Given the description of an element on the screen output the (x, y) to click on. 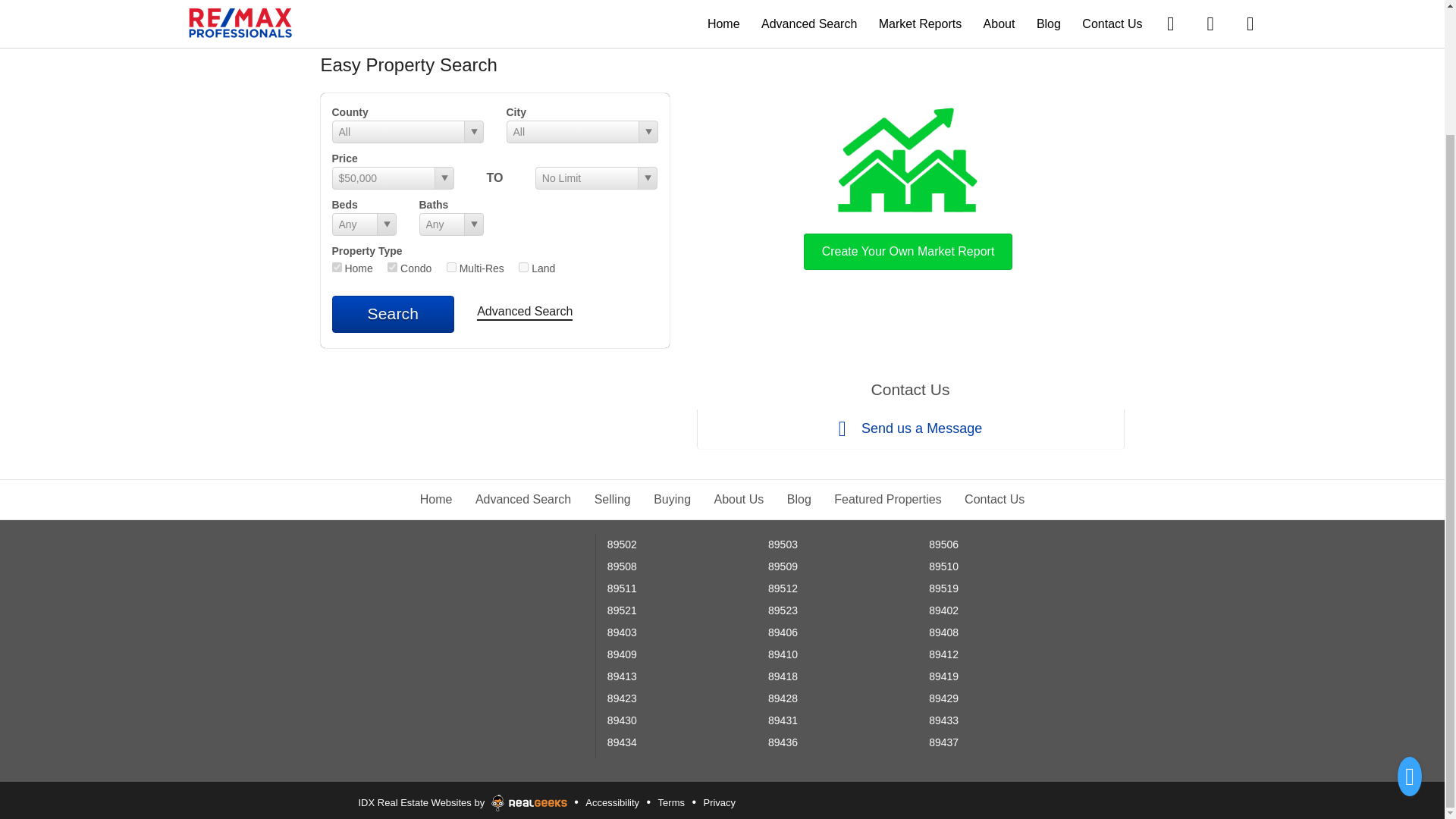
About Us (739, 499)
89523 (782, 610)
mul (451, 266)
Home (436, 499)
89510 (943, 566)
Send us a Message (909, 428)
89519 (943, 588)
89402 (943, 610)
Selling (612, 499)
Create Your Own Market Report (907, 185)
89512 (782, 588)
89502 (622, 544)
Contact Us (994, 499)
89511 (622, 588)
Buying (671, 499)
